Given the description of an element on the screen output the (x, y) to click on. 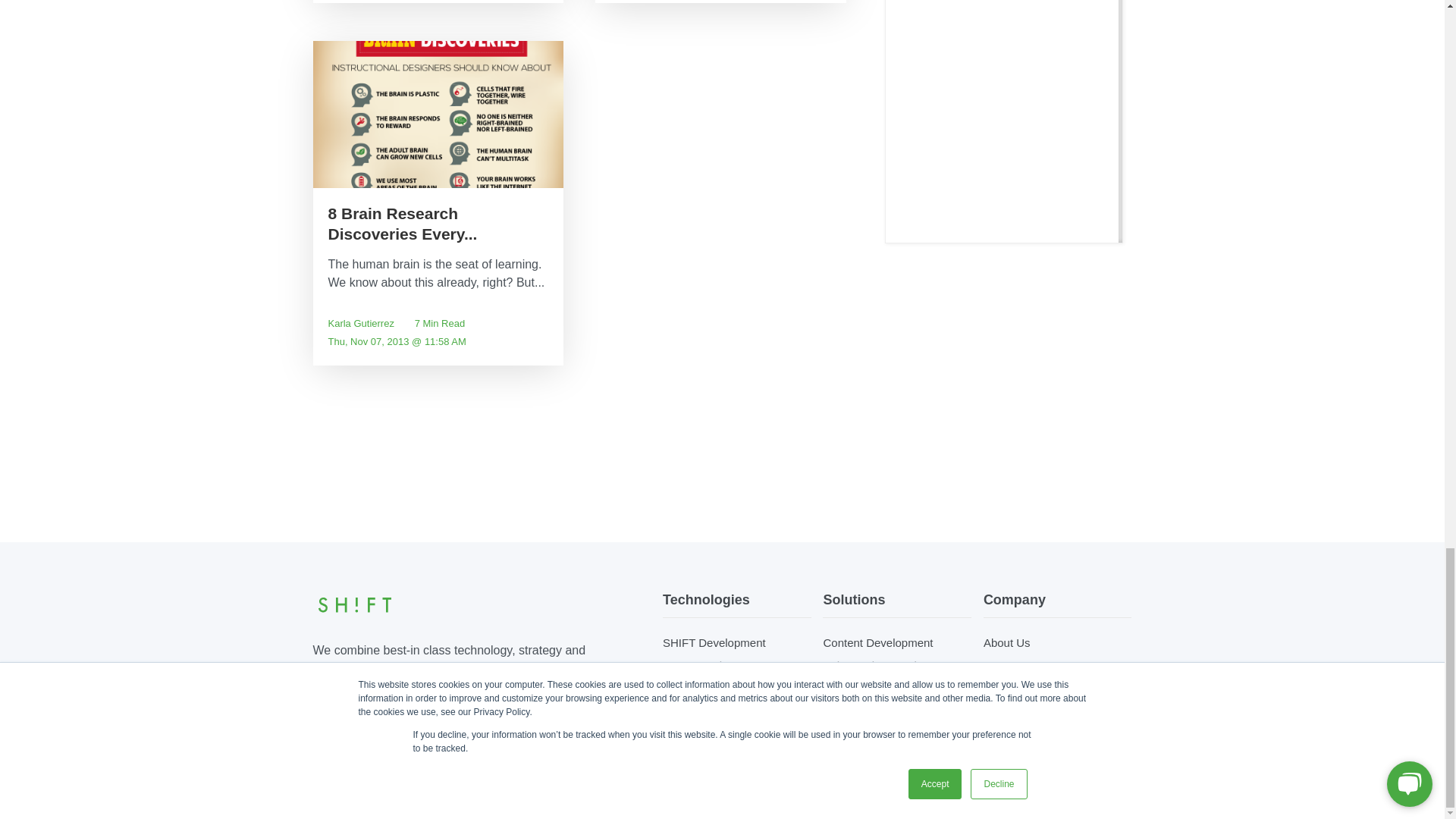
shift-logo-2021 (354, 605)
